Given the description of an element on the screen output the (x, y) to click on. 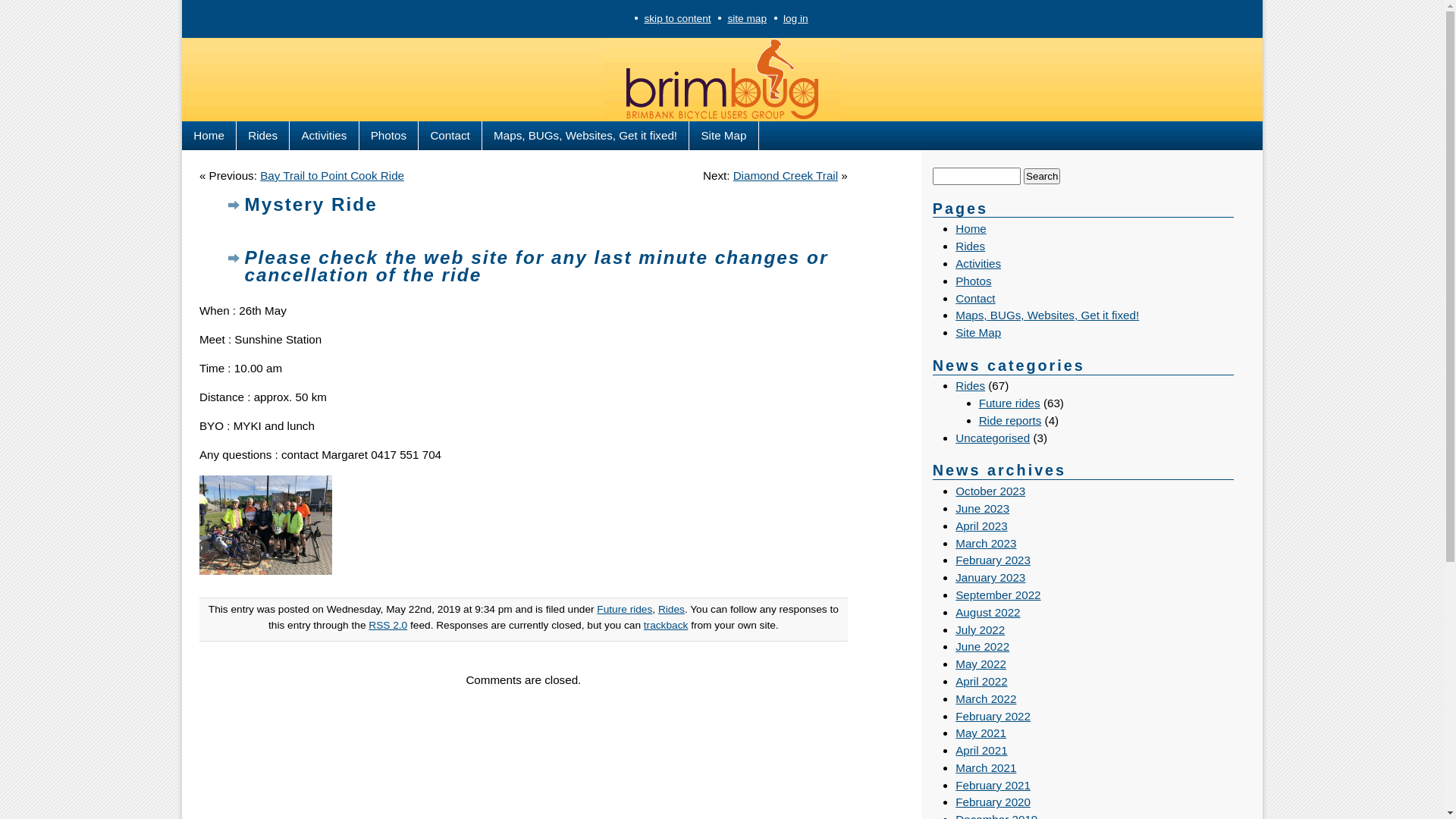
March 2021 Element type: text (985, 767)
Maps, BUGs, Websites, Get it fixed! Element type: text (1047, 314)
RSS 2.0 Element type: text (387, 624)
Photos Element type: text (389, 135)
trackback Element type: text (665, 624)
Ride reports Element type: text (1010, 420)
Activities Element type: text (323, 135)
Uncategorised Element type: text (992, 437)
Rides Element type: text (970, 385)
Bay Trail to Point Cook Ride Element type: text (332, 175)
June 2023 Element type: text (982, 508)
June 2022 Element type: text (982, 646)
Future rides Element type: text (1009, 402)
October 2023 Element type: text (990, 490)
February 2023 Element type: text (992, 559)
July 2022 Element type: text (979, 629)
Diamond Creek Trail Element type: text (785, 175)
Site Map Element type: text (978, 332)
March 2022 Element type: text (985, 698)
Rides Element type: text (671, 609)
May 2022 Element type: text (980, 663)
February 2022 Element type: text (992, 715)
September 2022 Element type: text (997, 594)
April 2021 Element type: text (981, 749)
August 2022 Element type: text (987, 611)
March 2023 Element type: text (985, 542)
Activities Element type: text (978, 263)
Future rides Element type: text (624, 609)
Contact Element type: text (450, 135)
February 2020 Element type: text (992, 801)
January 2023 Element type: text (990, 577)
Site Map Element type: text (723, 135)
Home Element type: text (209, 135)
Photos Element type: text (973, 280)
Maps, BUGs, Websites, Get it fixed! Element type: text (585, 135)
Contact Element type: text (974, 297)
April 2022 Element type: text (981, 680)
May 2021 Element type: text (980, 732)
log in Element type: text (795, 18)
February 2021 Element type: text (992, 784)
Rides Element type: text (262, 135)
Search Element type: text (1041, 176)
Rides Element type: text (970, 245)
site map Element type: text (746, 18)
April 2023 Element type: text (981, 525)
skip to content Element type: text (676, 18)
Home Element type: text (970, 228)
